Given the description of an element on the screen output the (x, y) to click on. 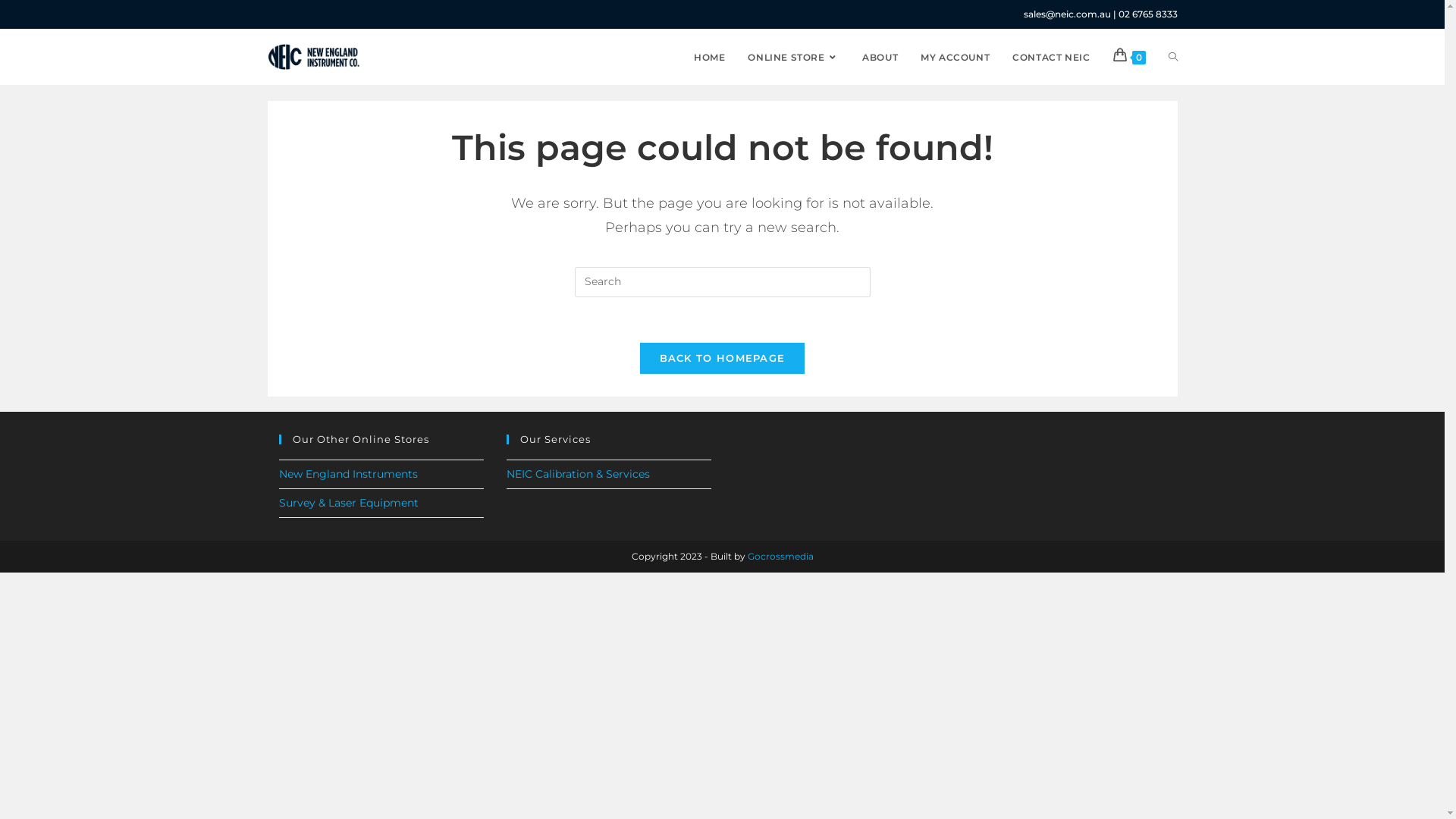
TOGGLE WEBSITE SEARCH Element type: text (1173, 56)
NEIC Calibration & Services Element type: text (577, 473)
HOME Element type: text (709, 56)
Gocrossmedia Element type: text (780, 555)
02 6765 8333 Element type: text (1146, 13)
ONLINE STORE Element type: text (793, 56)
MY ACCOUNT Element type: text (955, 56)
ABOUT Element type: text (879, 56)
BACK TO HOMEPAGE Element type: text (722, 357)
sales@neic.com.au Element type: text (1066, 13)
CONTACT NEIC Element type: text (1051, 56)
New England Instruments Element type: text (348, 473)
Survey & Laser Equipment Element type: text (348, 502)
0 Element type: text (1128, 56)
